Given the description of an element on the screen output the (x, y) to click on. 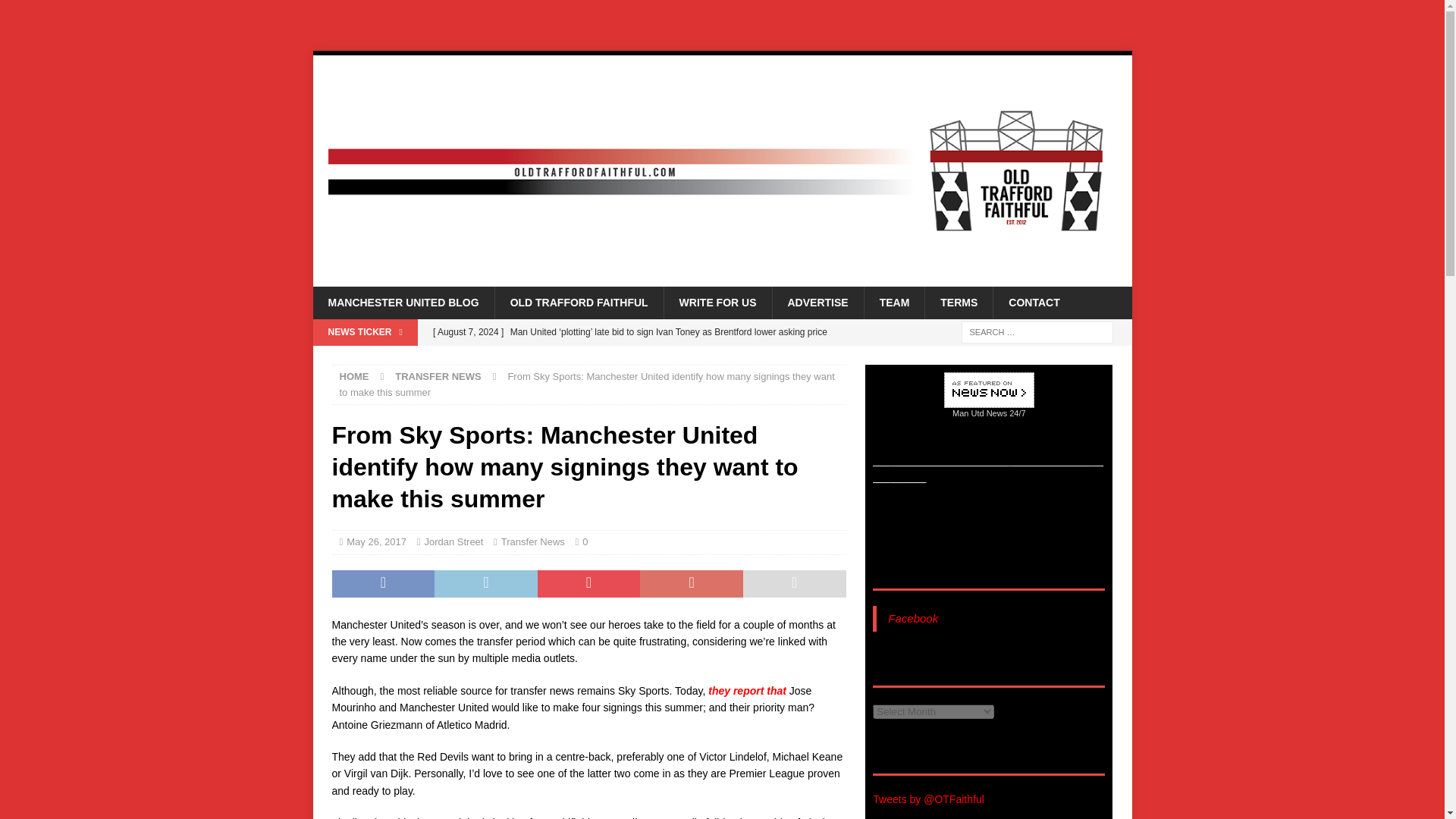
ADVERTISE (817, 302)
they report that (746, 690)
May 26, 2017 (376, 541)
TRANSFER NEWS (437, 376)
MANCHESTER UNITED BLOG (403, 302)
Search (56, 11)
Transfer News (532, 541)
CONTACT (1033, 302)
OLD TRAFFORD FAITHFUL (579, 302)
HOME (354, 376)
